Given the description of an element on the screen output the (x, y) to click on. 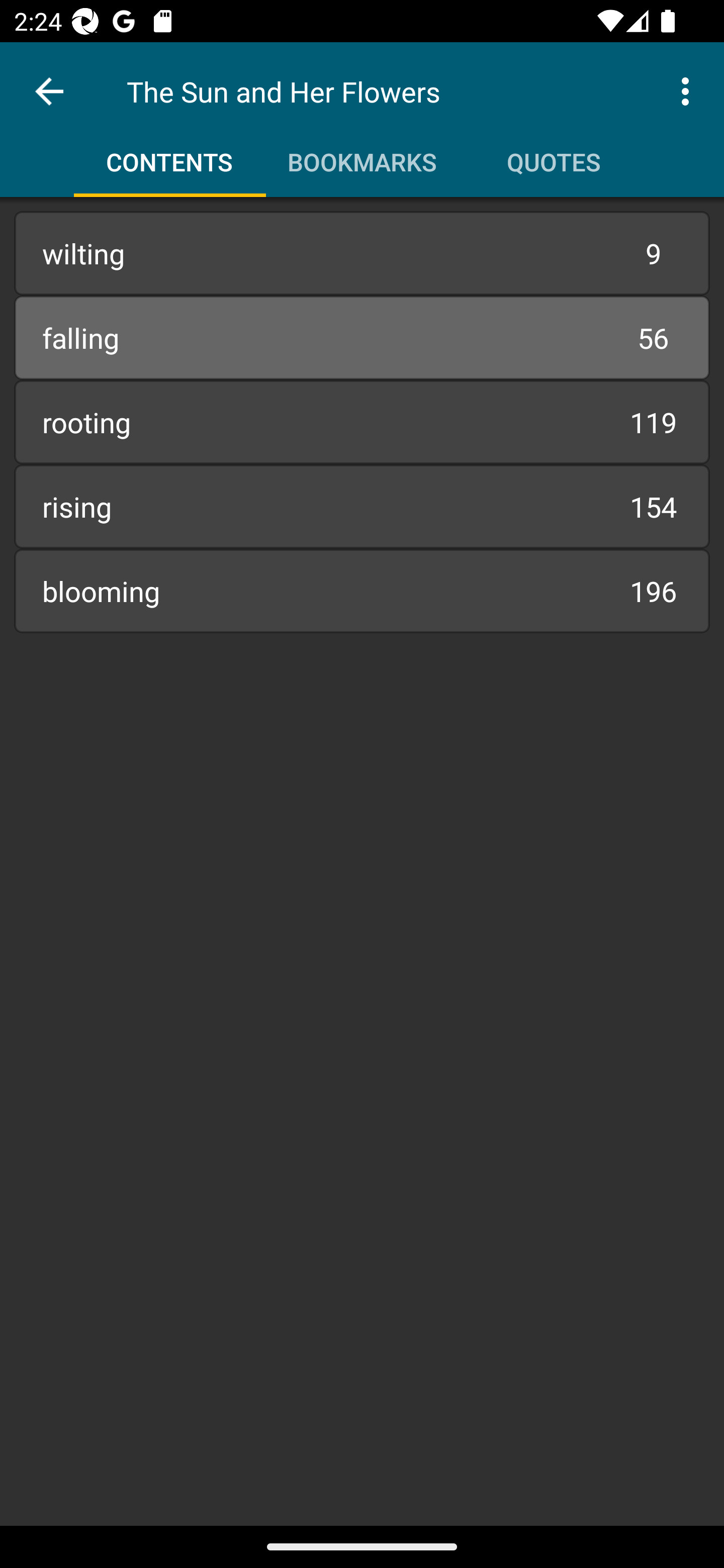
Back (49, 91)
More options (688, 90)
Bookmarks BOOKMARKS (361, 154)
Quotes QUOTES (554, 154)
wilting 9 (361, 252)
falling 56 (361, 336)
rooting 119 (361, 421)
rising 154 (361, 506)
blooming 196 (361, 590)
